Given the description of an element on the screen output the (x, y) to click on. 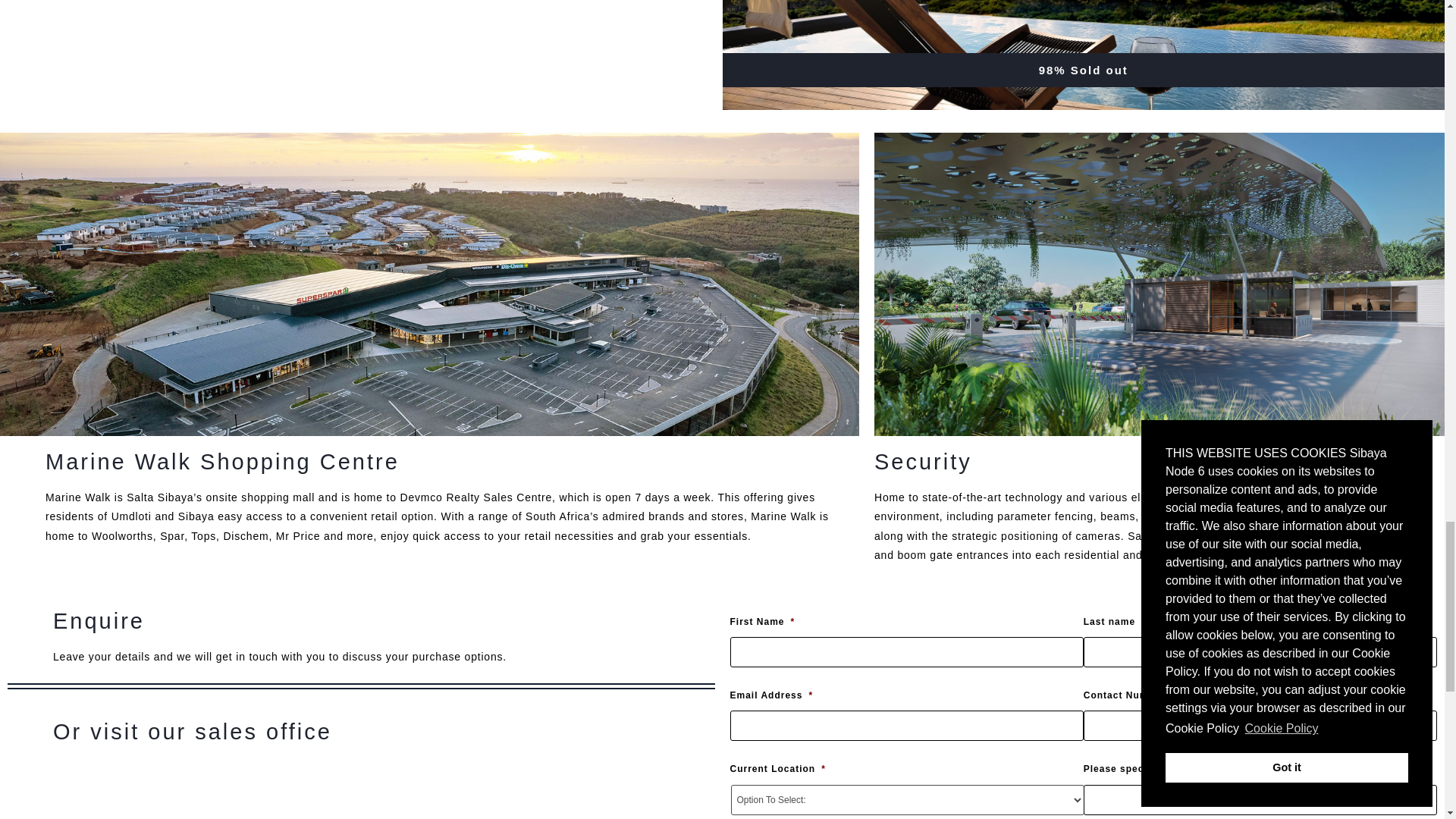
Salta Sales (383, 792)
